Given the description of an element on the screen output the (x, y) to click on. 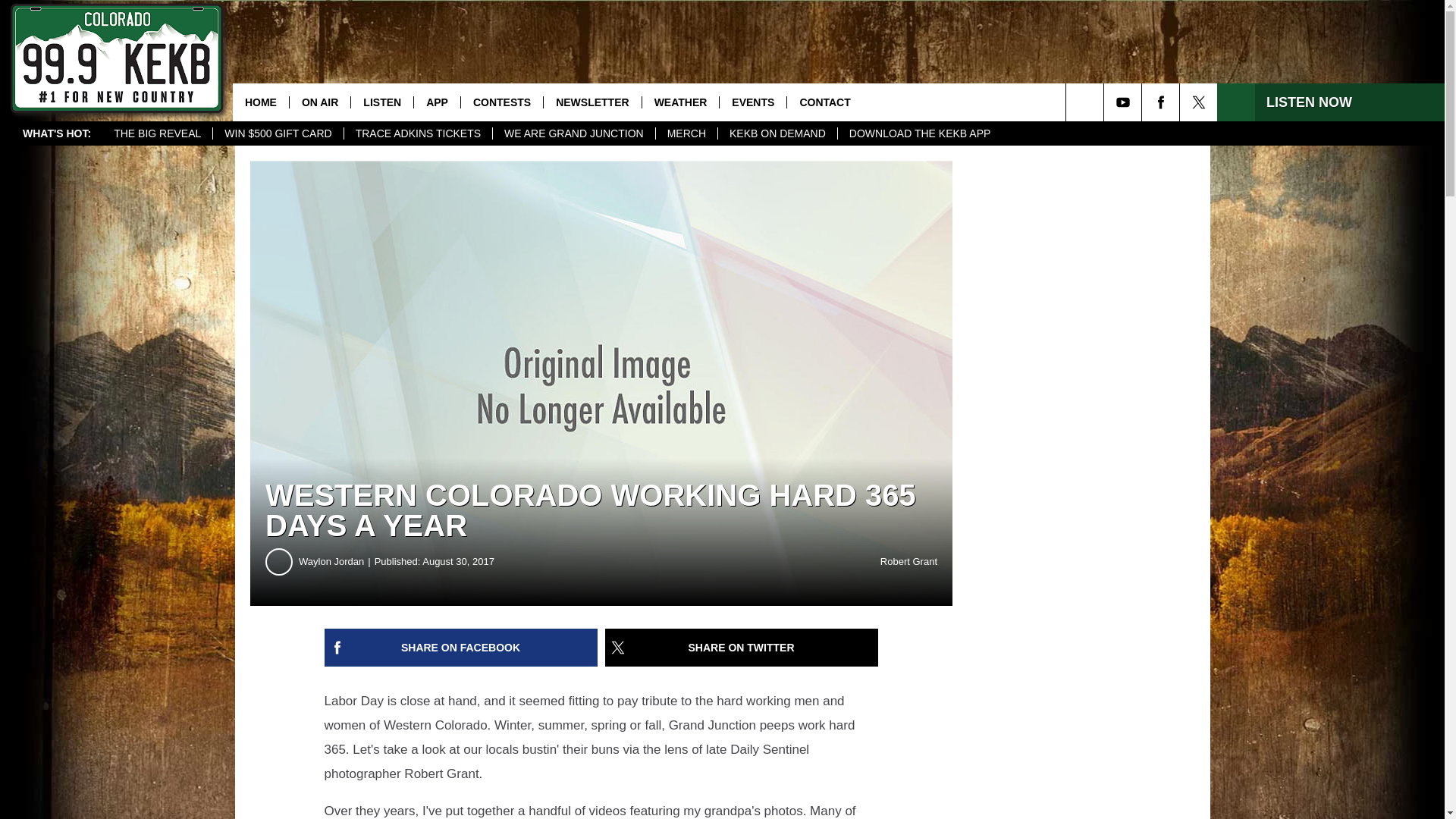
DOWNLOAD THE KEKB APP (919, 133)
WHAT'S HOT: (56, 133)
WEATHER (680, 102)
KEKB ON DEMAND (777, 133)
THE BIG REVEAL (156, 133)
EVENTS (752, 102)
MERCH (686, 133)
TRACE ADKINS TICKETS (417, 133)
Share on Twitter (741, 647)
SEARCH (1106, 102)
